Given the description of an element on the screen output the (x, y) to click on. 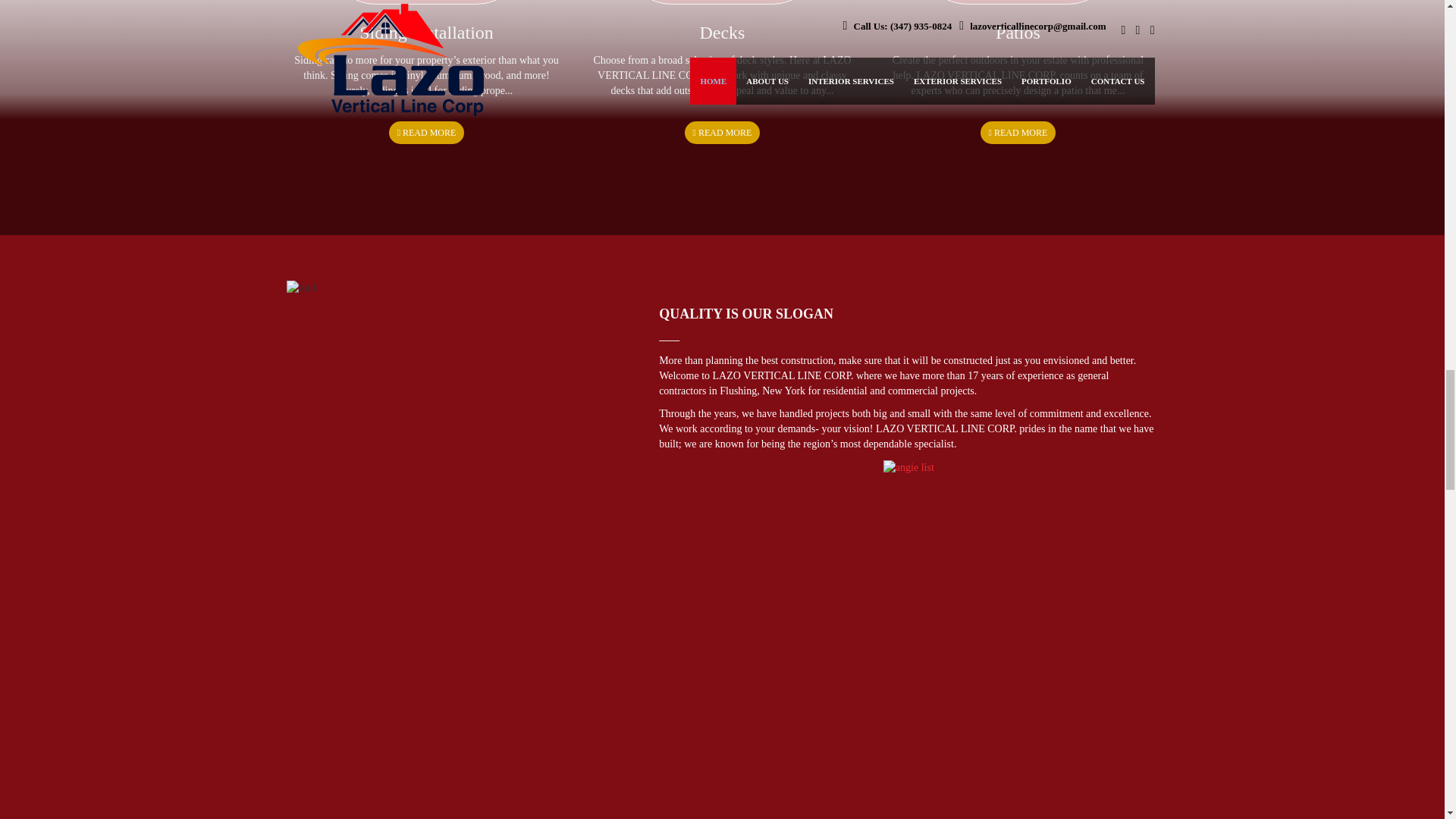
READ MORE (426, 132)
READ MORE (1018, 132)
Patios (1018, 32)
READ MORE (722, 132)
Decks (721, 32)
Siding Installation (426, 32)
